Given the description of an element on the screen output the (x, y) to click on. 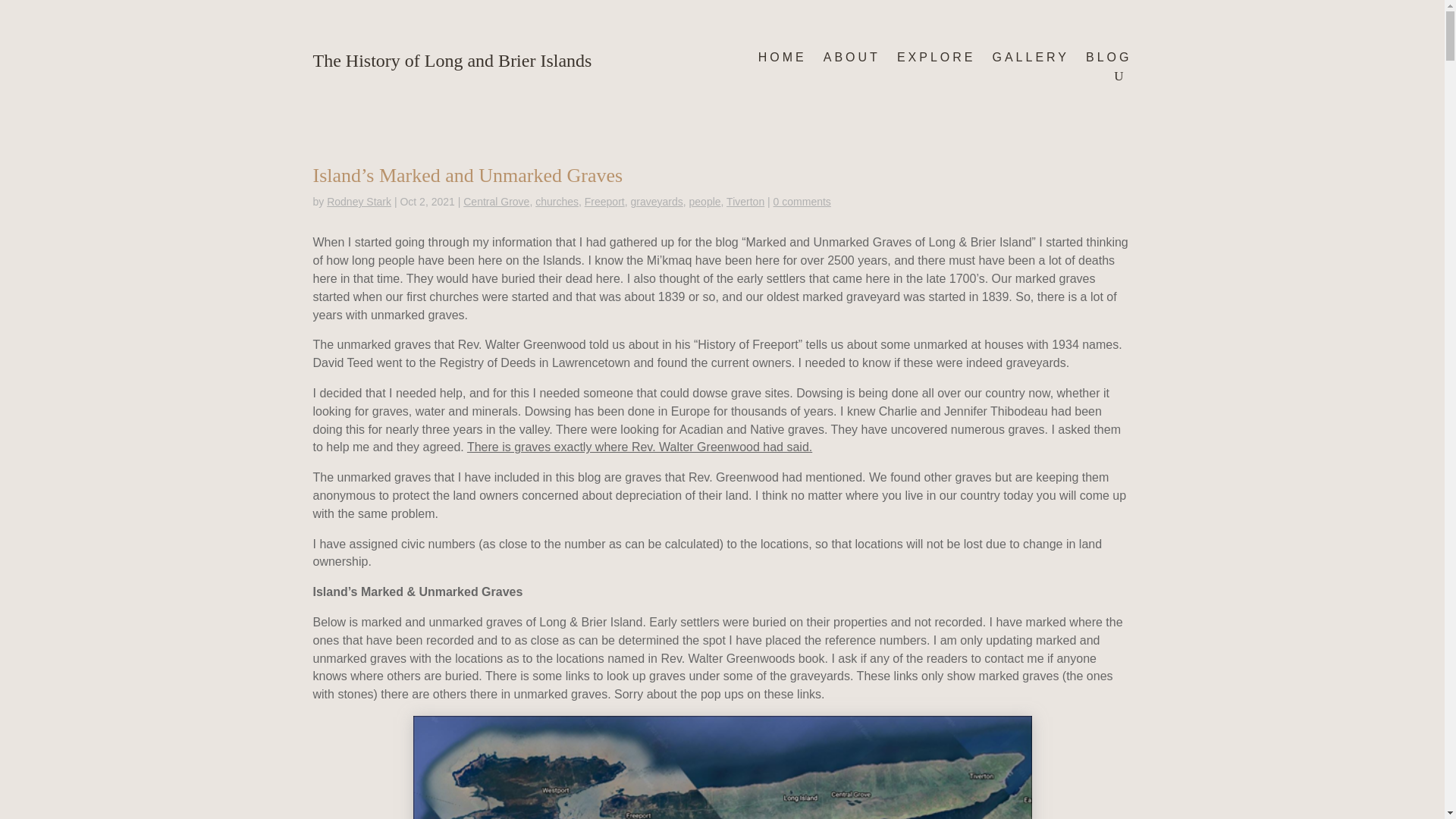
graveyards (656, 201)
HOME (782, 60)
people (704, 201)
churches (556, 201)
Freeport (604, 201)
Posts by Rodney Stark (358, 201)
Tiverton (745, 201)
Central Grove (496, 201)
0 comments (802, 201)
EXPLORE (935, 60)
GALLERY (1029, 60)
Rodney Stark (358, 201)
ABOUT (852, 60)
BLOG (1108, 60)
